Given the description of an element on the screen output the (x, y) to click on. 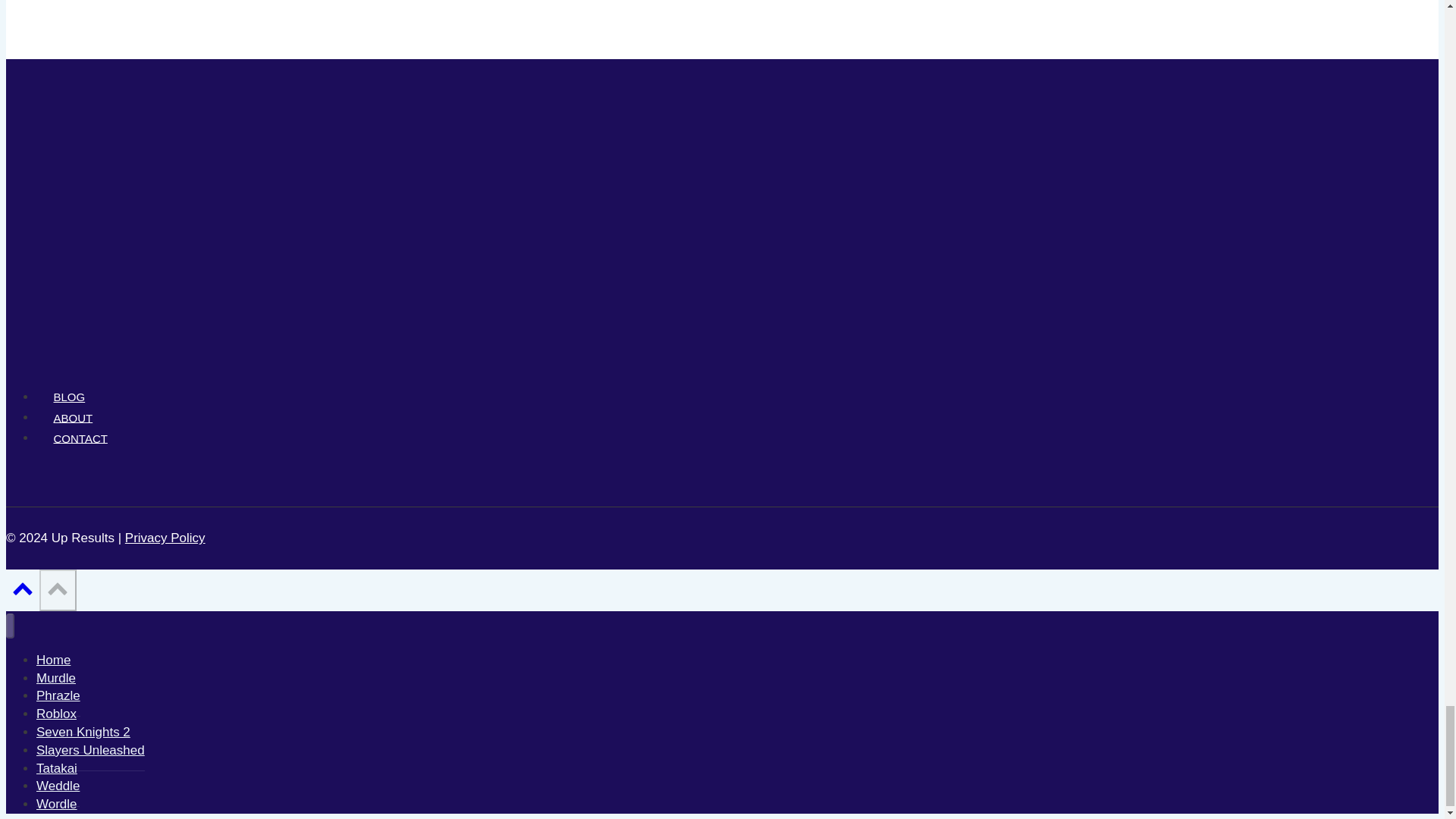
Scroll to top (57, 590)
Scroll to top (22, 592)
Scroll to top (22, 587)
Scroll to top (57, 587)
